Given the description of an element on the screen output the (x, y) to click on. 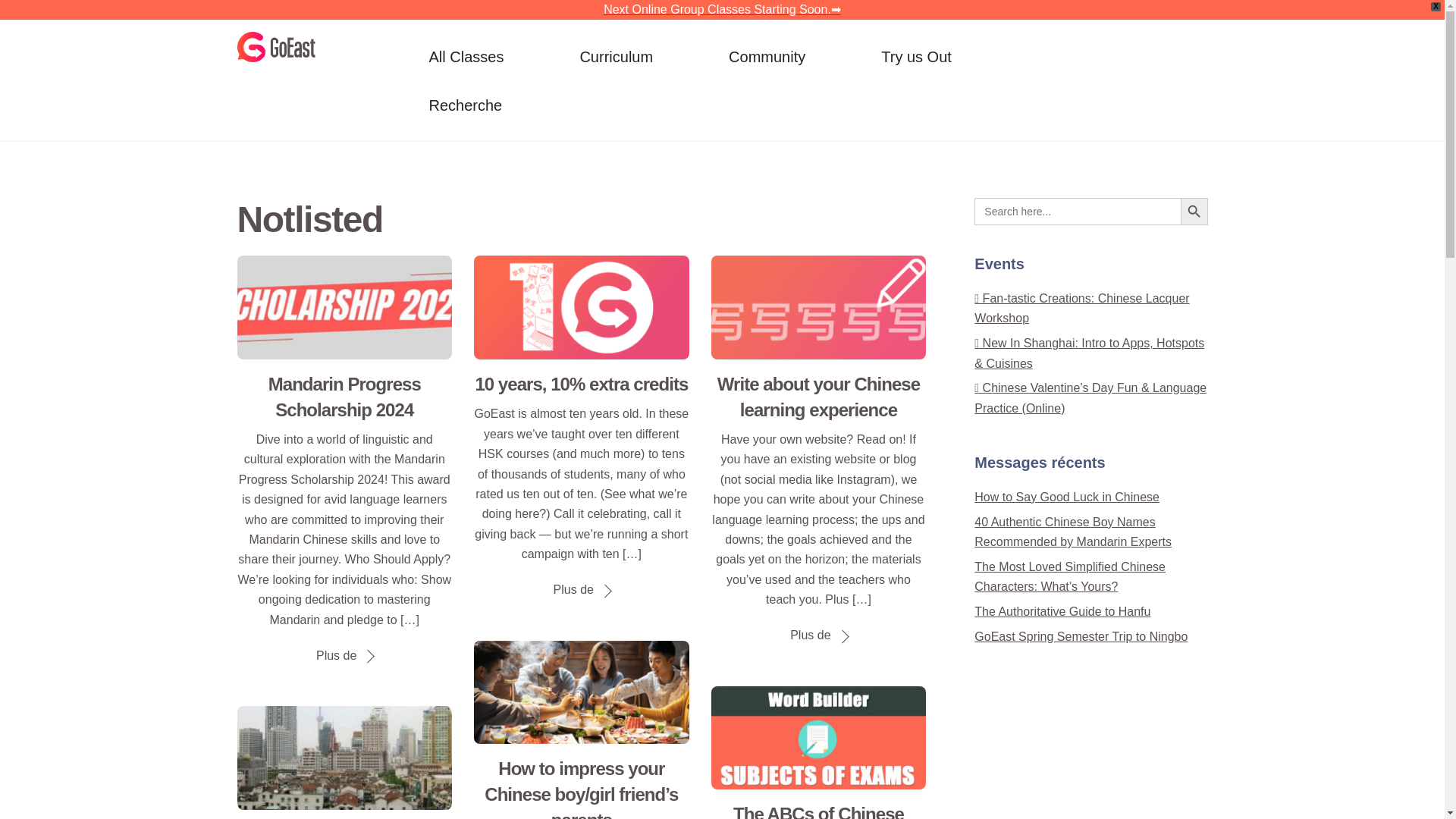
Curriculum (615, 56)
dinner (581, 692)
shanghai-old-buildings-232x300 (343, 757)
All Classes (466, 56)
Community (766, 56)
Screen Shot 2019-04-22 at 14.31.13 (721, 79)
GoEast Mandarin (818, 738)
Try us Out (274, 51)
Mandarin Progress Scholarship 2024 (916, 56)
